Given the description of an element on the screen output the (x, y) to click on. 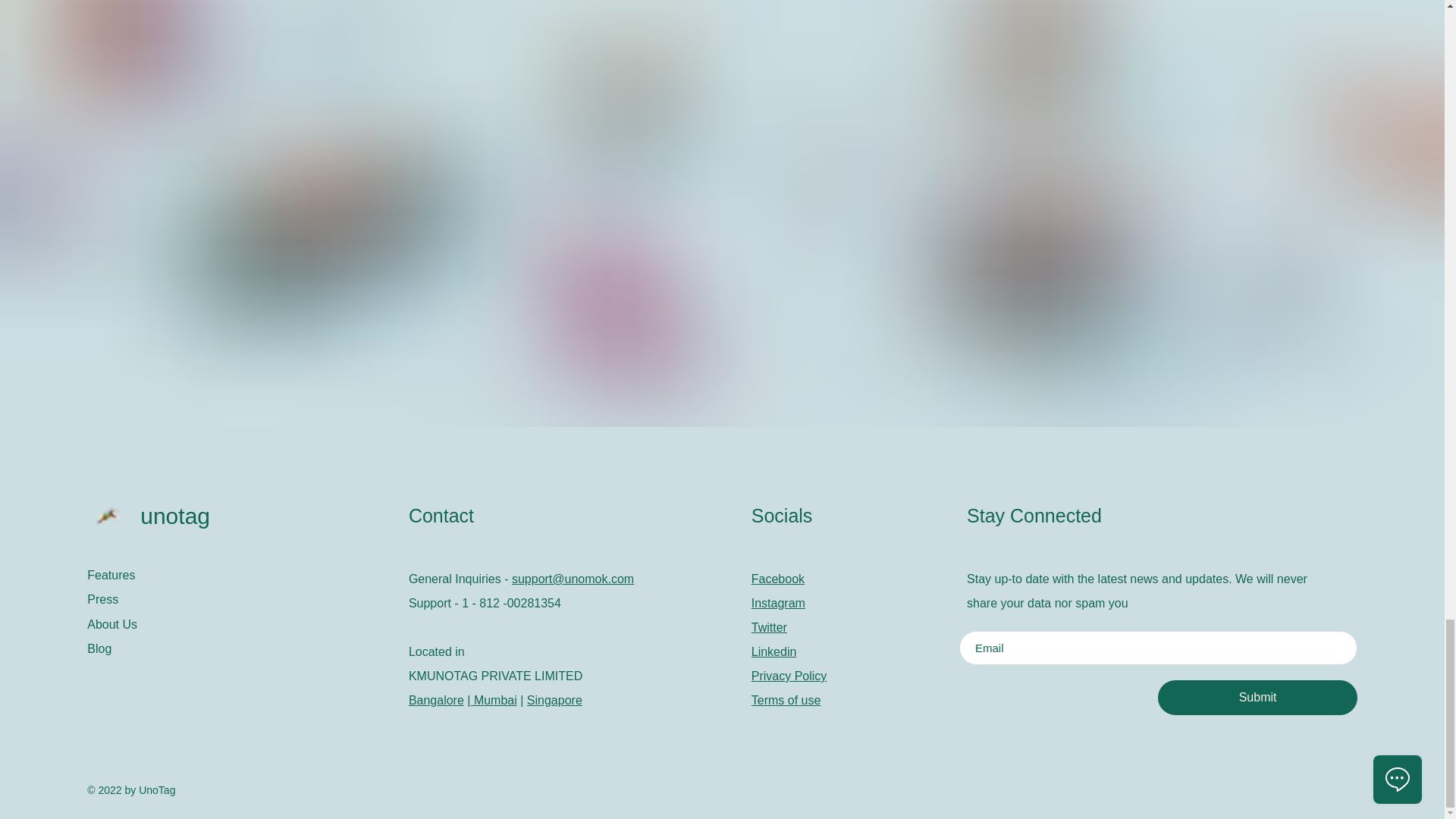
Facebook (778, 578)
Features (240, 575)
Terms of use (786, 699)
Privacy Policy (789, 675)
Twitter (769, 626)
Instagram (778, 603)
Bangalore (436, 699)
Singapore (554, 699)
Blog (240, 648)
Mumbai (493, 699)
Press (240, 599)
About Us (240, 624)
